Given the description of an element on the screen output the (x, y) to click on. 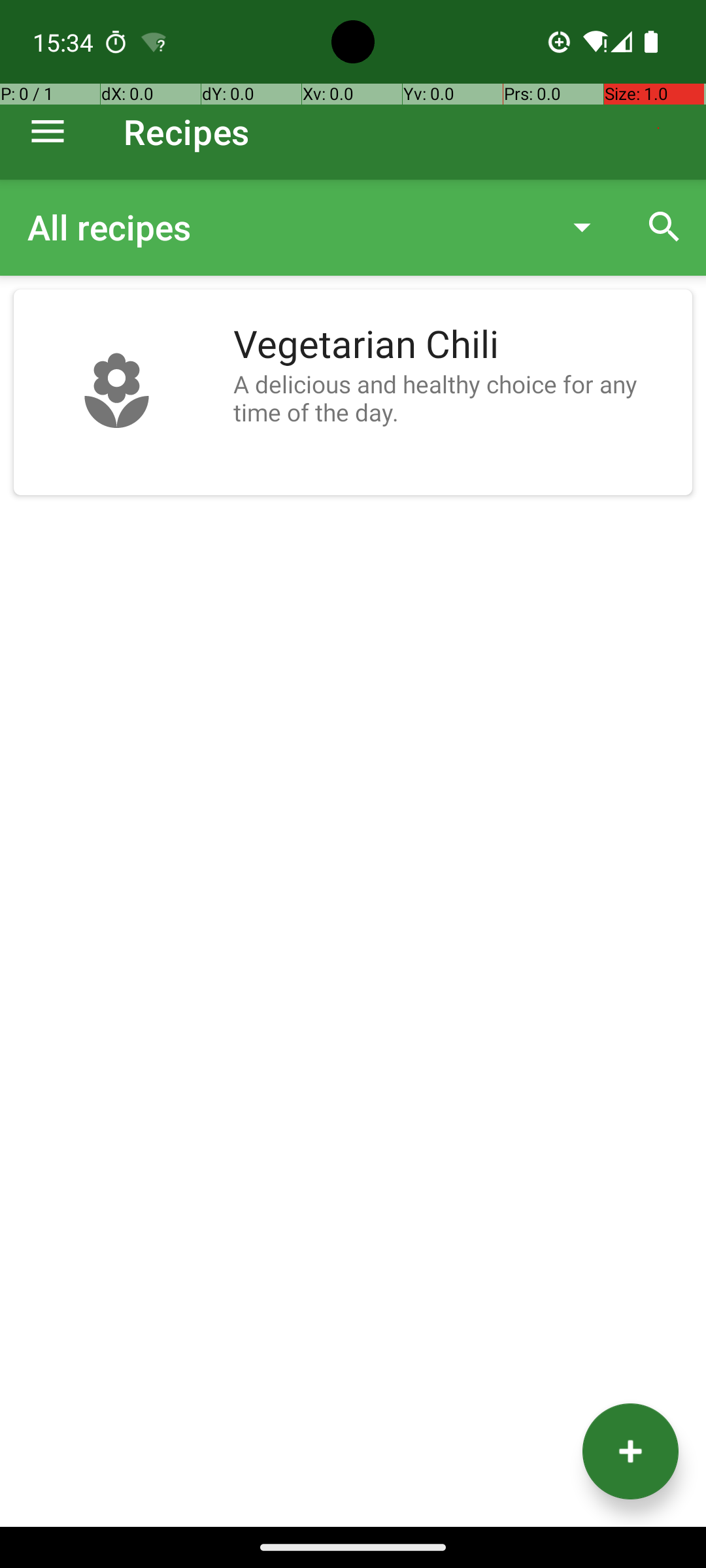
Vegetarian Chili Element type: android.widget.TextView (455, 344)
